Given the description of an element on the screen output the (x, y) to click on. 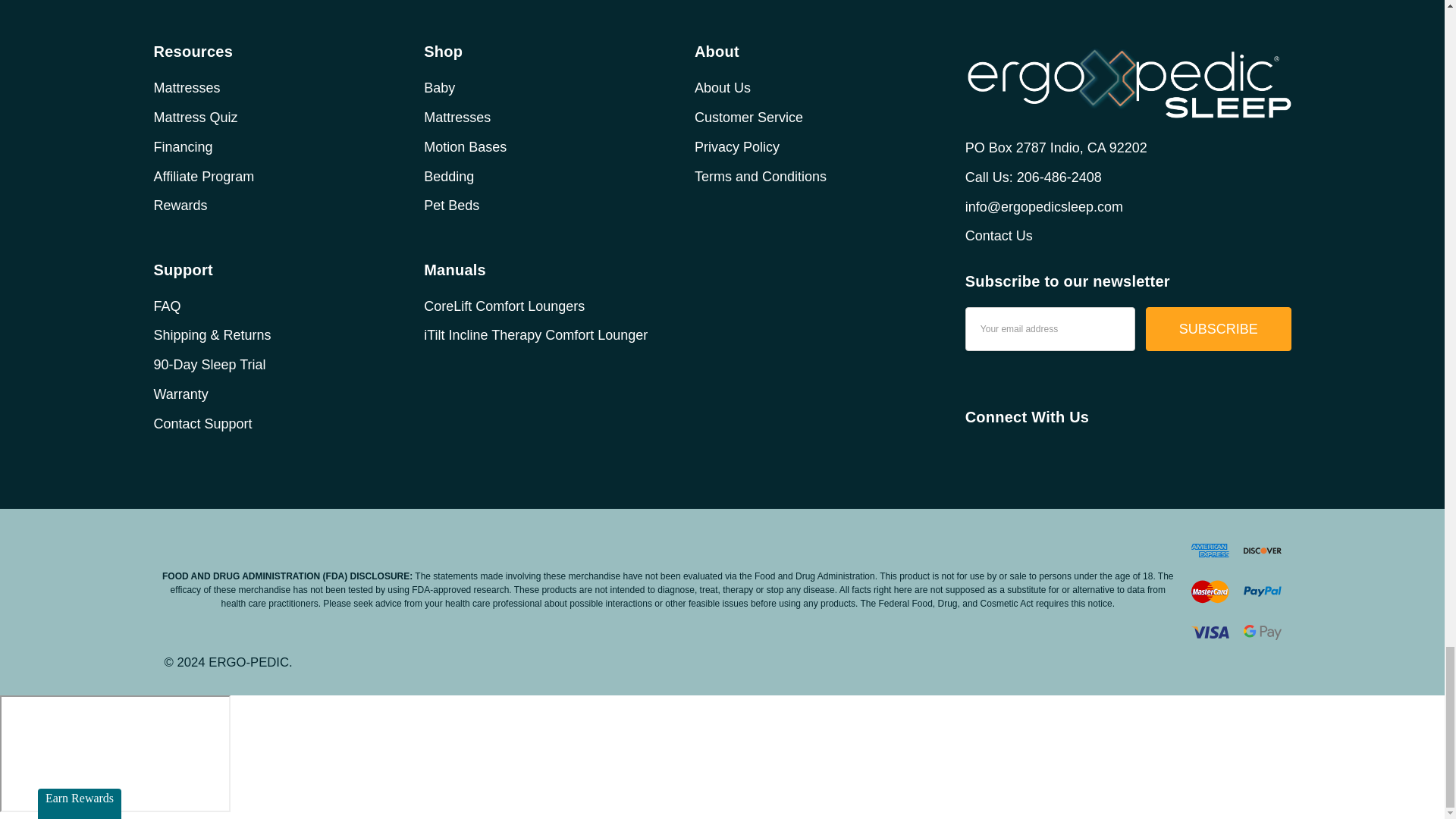
ERGO-PEDIC (1128, 81)
Subscribe (1218, 329)
